Given the description of an element on the screen output the (x, y) to click on. 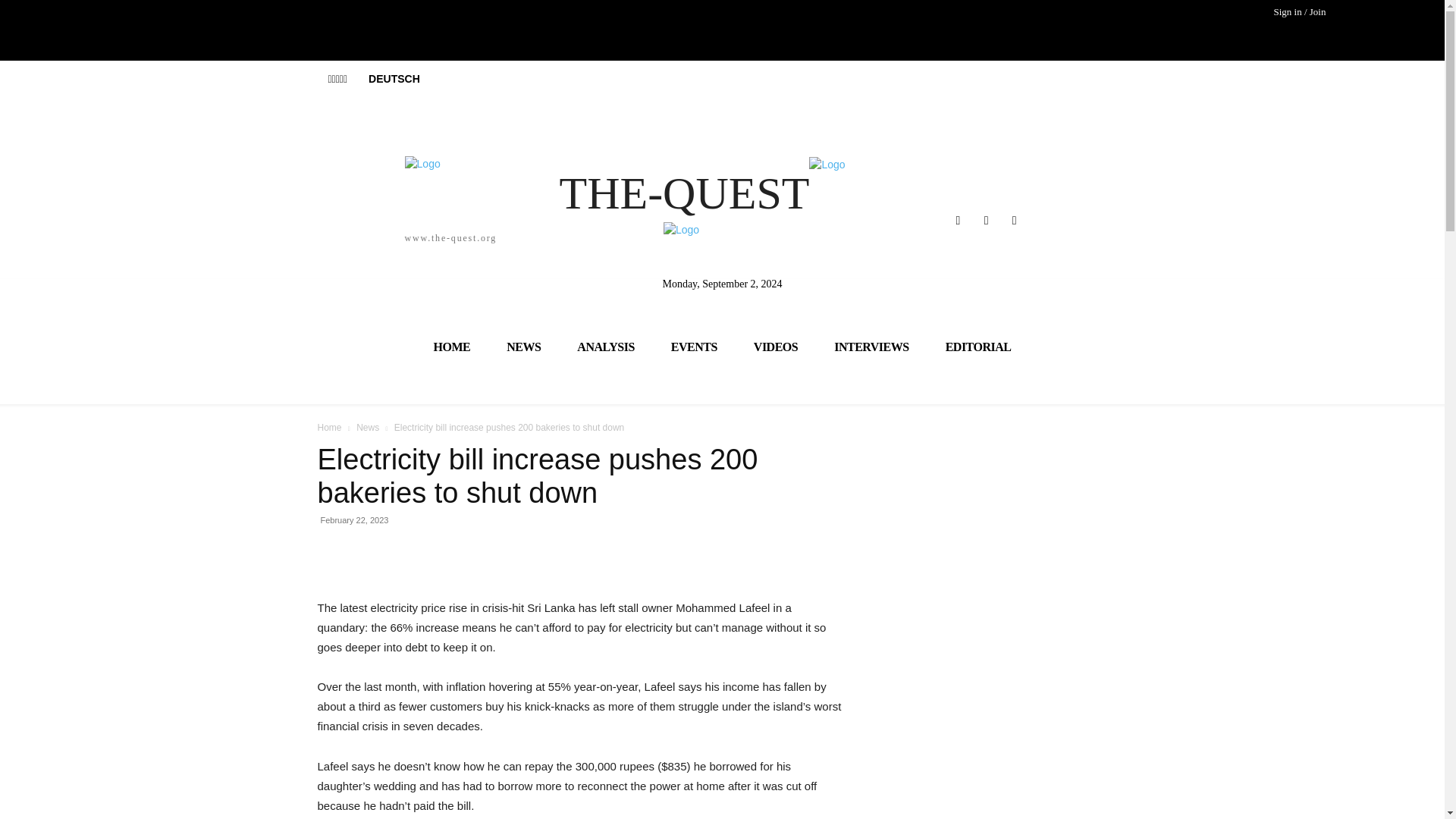
Twitter (985, 219)
Facebook (957, 219)
EVENTS (693, 346)
View all posts in News (367, 427)
www.the-quest.org (306, 199)
Youtube (1014, 219)
HOME (451, 346)
NEWS (523, 346)
EDITORIAL (978, 346)
INTERVIEWS (870, 346)
